Given the description of an element on the screen output the (x, y) to click on. 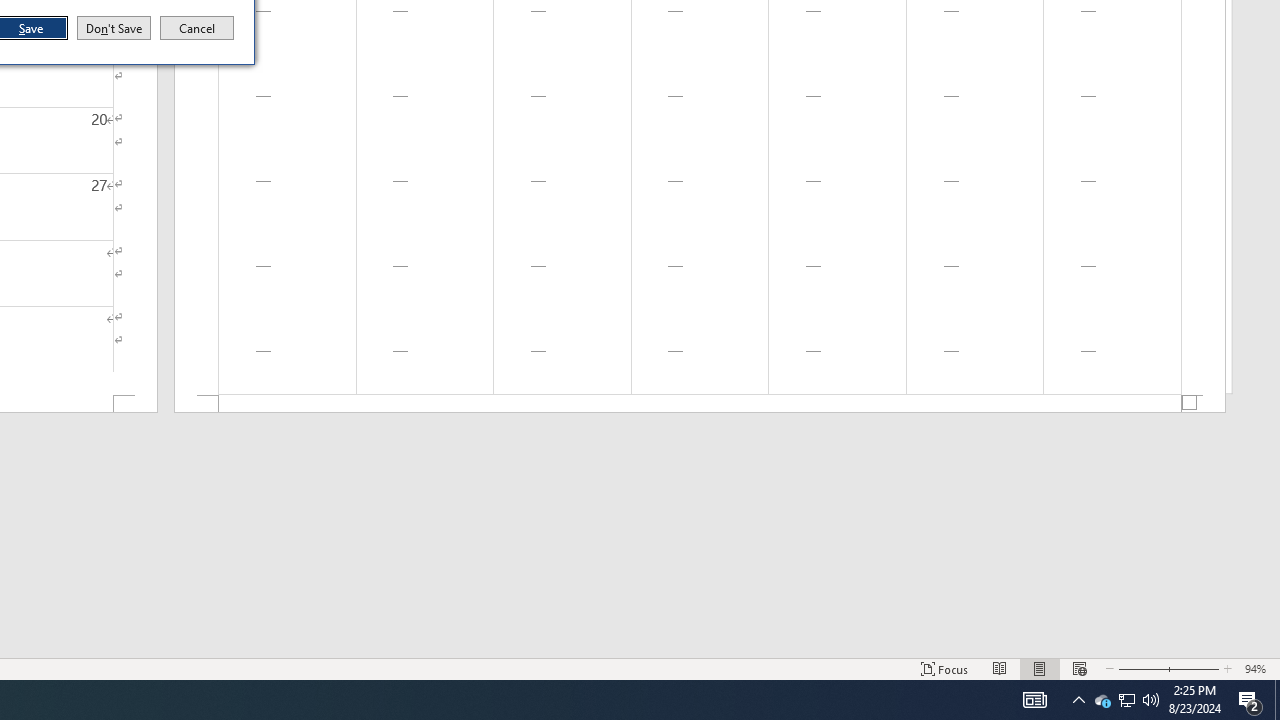
Action Center, 2 new notifications (1250, 699)
Footer -Section 1- (700, 404)
